Given the description of an element on the screen output the (x, y) to click on. 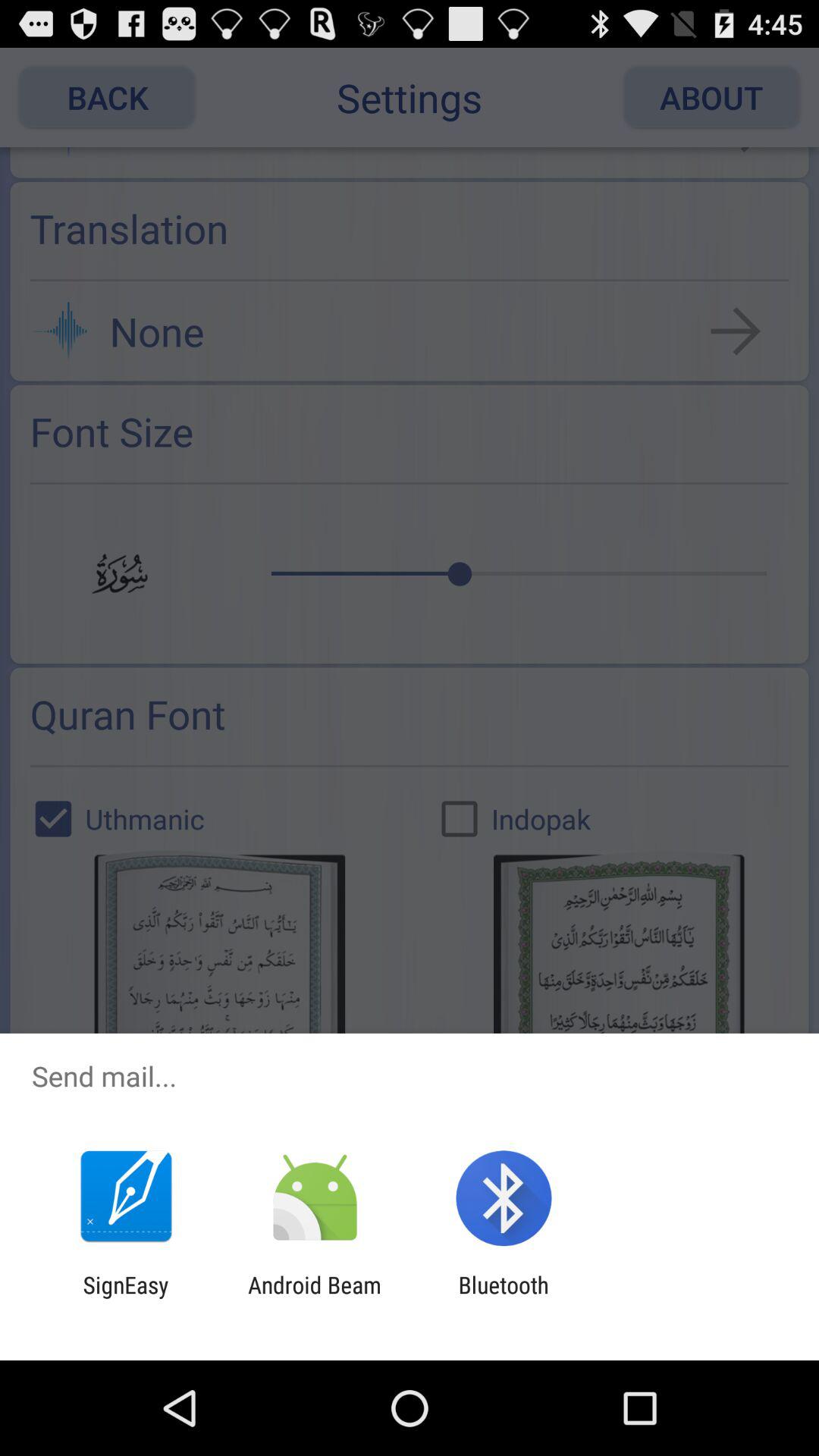
tap the android beam (314, 1298)
